Given the description of an element on the screen output the (x, y) to click on. 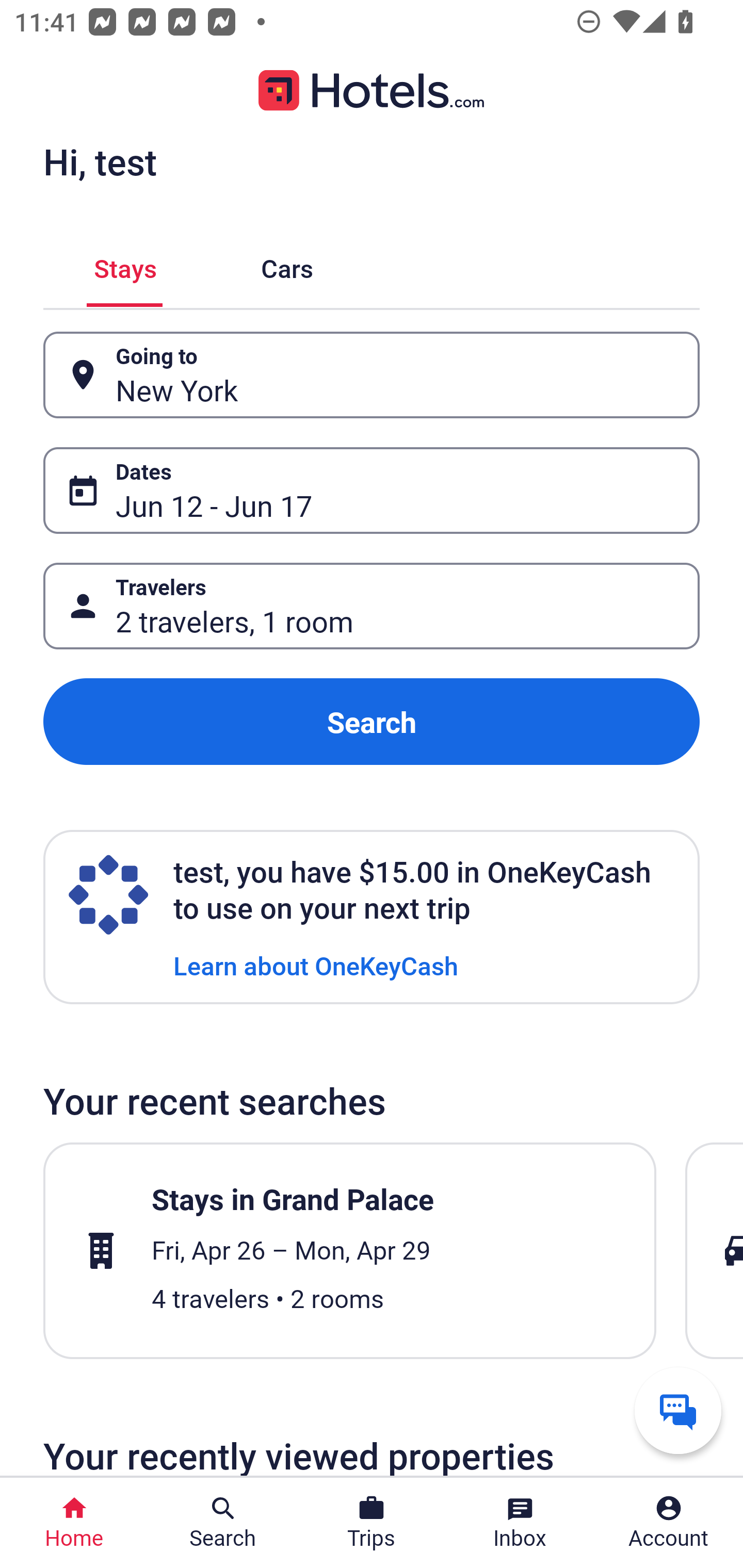
Hi, test (99, 161)
Cars (286, 265)
Going to Button New York (371, 375)
Dates Button Jun 12 - Jun 17 (371, 489)
Travelers Button 2 travelers, 1 room (371, 605)
Search (371, 721)
Learn about OneKeyCash Learn about OneKeyCash Link (315, 964)
Get help from a virtual agent (677, 1410)
Search Search Button (222, 1522)
Trips Trips Button (371, 1522)
Inbox Inbox Button (519, 1522)
Account Profile. Button (668, 1522)
